Given the description of an element on the screen output the (x, y) to click on. 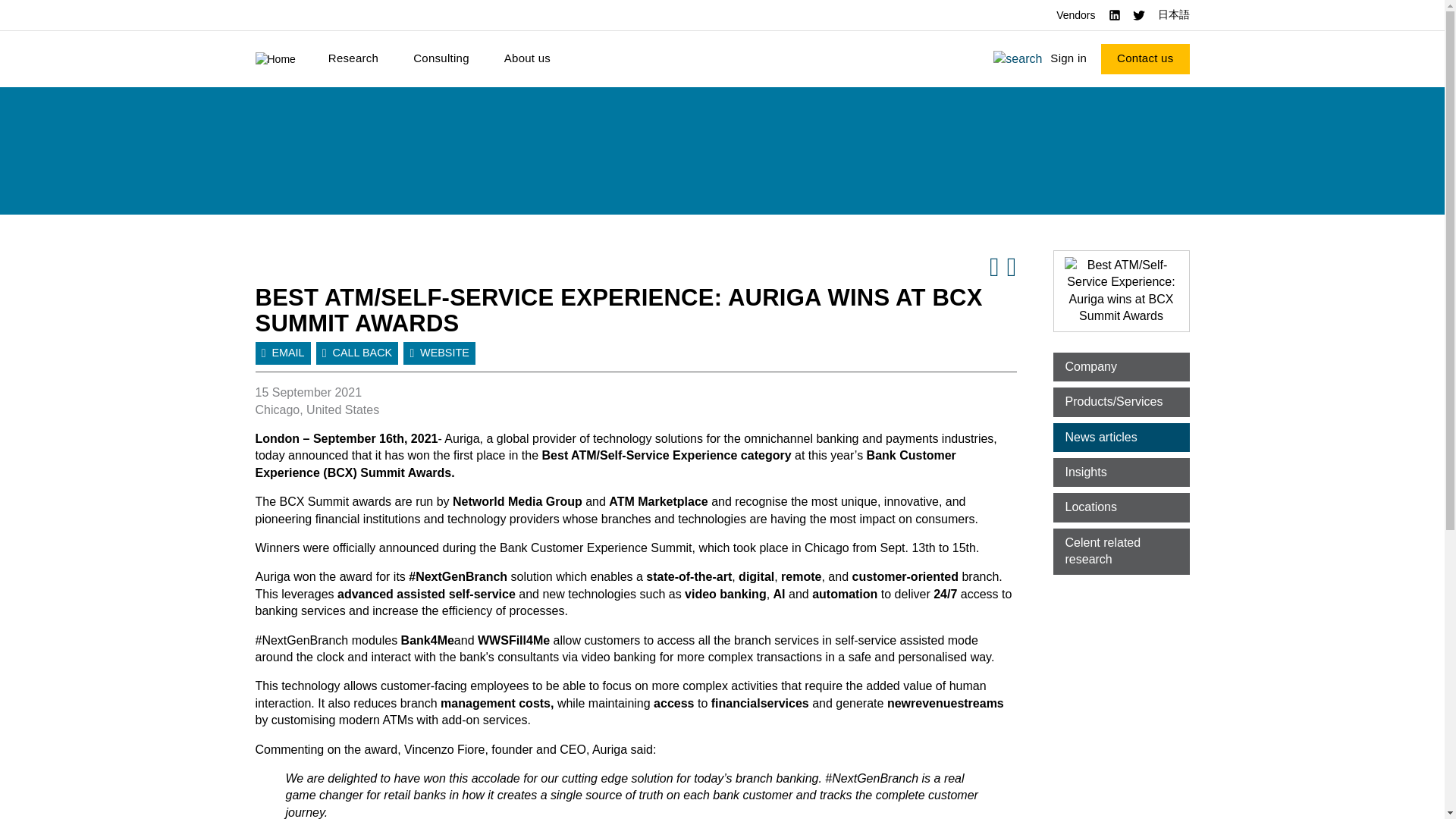
Consulting (440, 59)
Company (1120, 366)
Vendors (1075, 15)
Research (353, 59)
Sign in (1068, 59)
Home (274, 59)
About us (527, 59)
Contact us (1144, 59)
search (1017, 58)
